Given the description of an element on the screen output the (x, y) to click on. 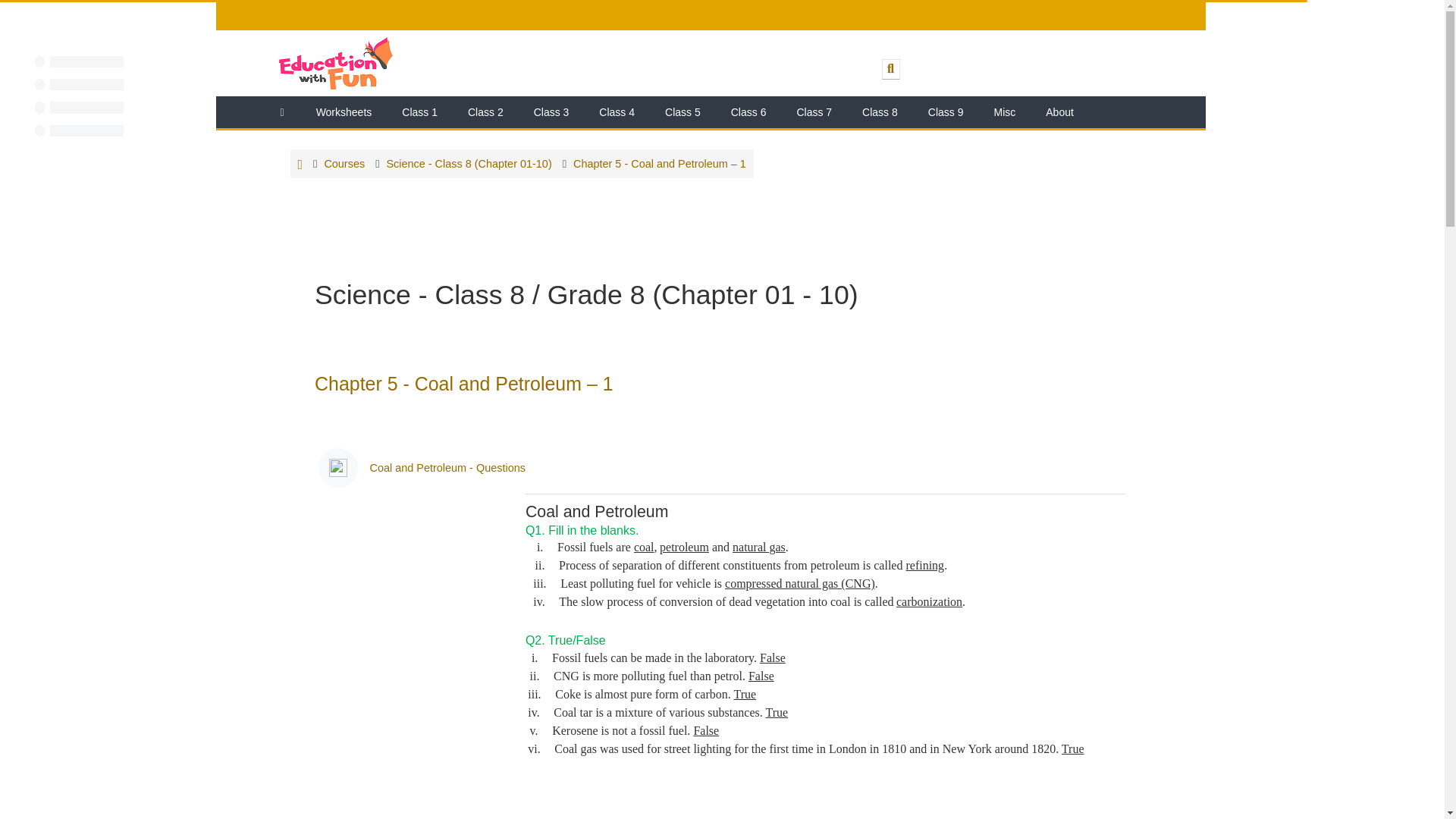
Class 4 (616, 111)
Worksheets (344, 111)
Home (282, 111)
Class 3 (551, 111)
Class 2 (485, 111)
Toggle search input (889, 68)
Toggle search input (889, 68)
Class 5 (682, 111)
Class 1 (419, 111)
